Given the description of an element on the screen output the (x, y) to click on. 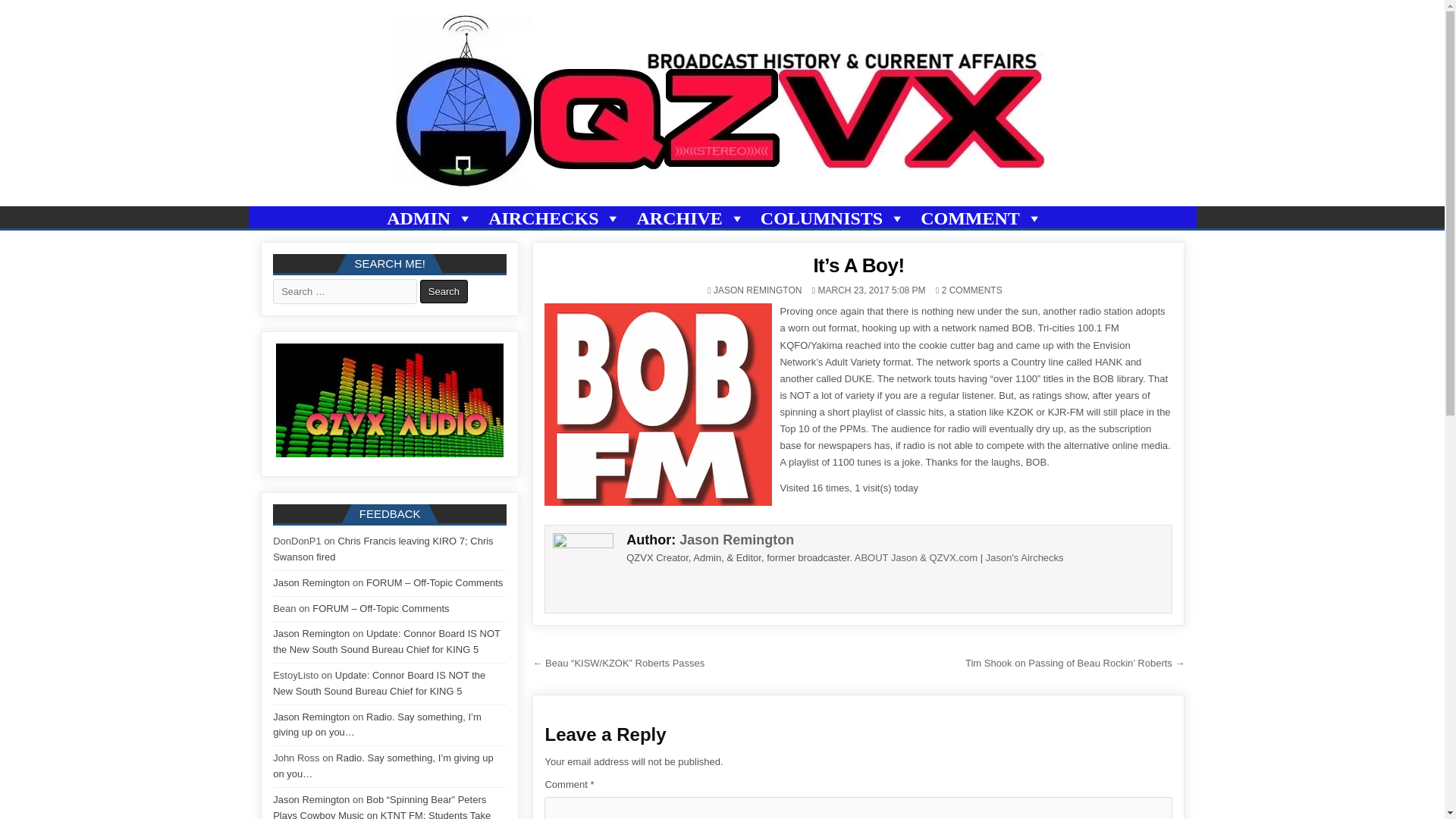
AIRCHECKS (554, 217)
ADMIN (430, 217)
Search (443, 291)
ARCHIVE (690, 217)
Search (443, 291)
